Given the description of an element on the screen output the (x, y) to click on. 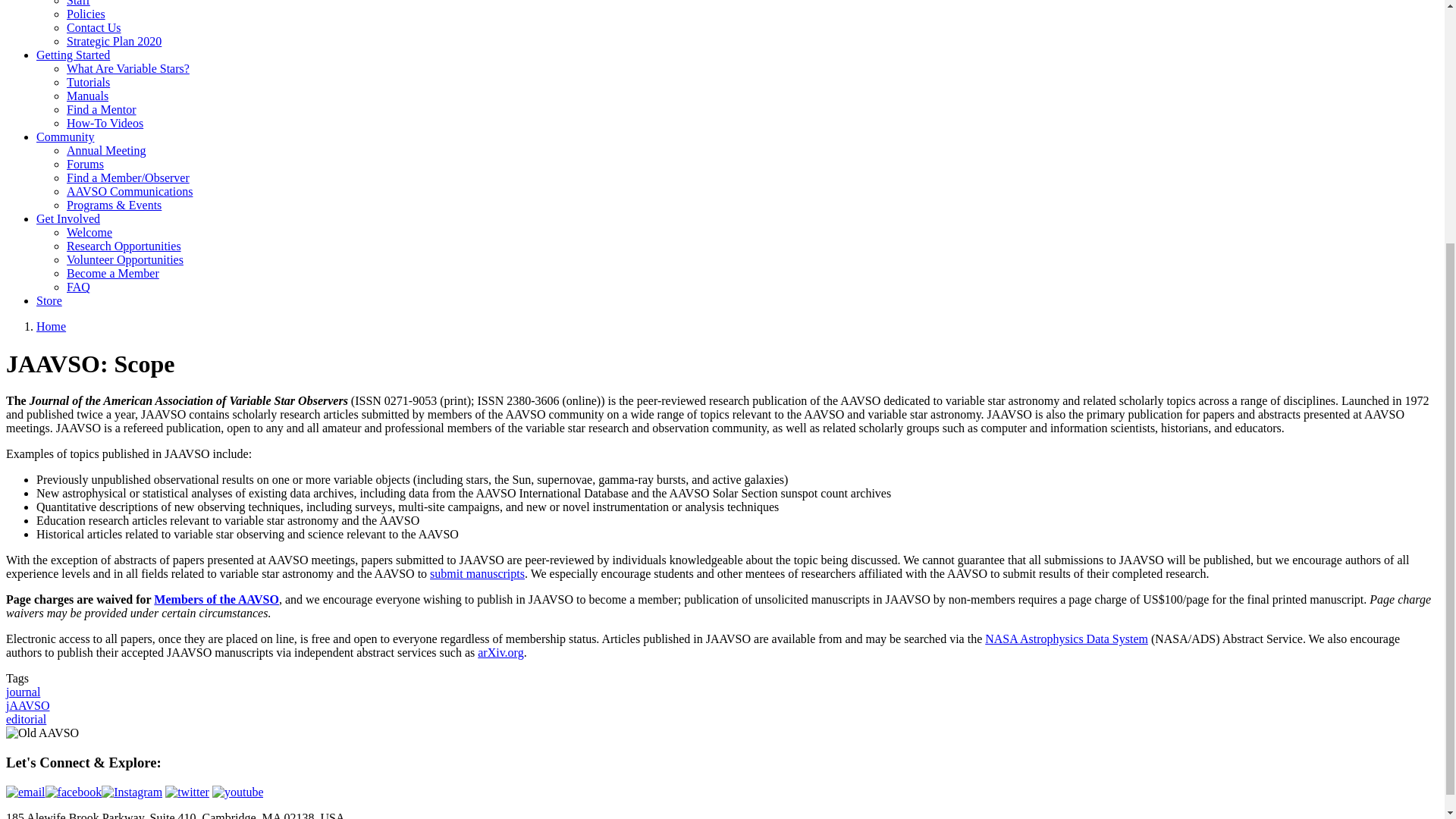
Become a Member (112, 273)
What Are Variable Stars? (127, 68)
Strategic Plan (113, 41)
FAQ (78, 286)
Annual Meeting (105, 150)
Home (50, 326)
Research Opportunities (123, 245)
AAVSO Communications (129, 191)
Contact Us (93, 27)
Manuals (86, 95)
Members of the AAVSO (216, 599)
Welcome (89, 232)
submit manuscripts (476, 573)
Forums (84, 164)
Getting Started (73, 54)
